Given the description of an element on the screen output the (x, y) to click on. 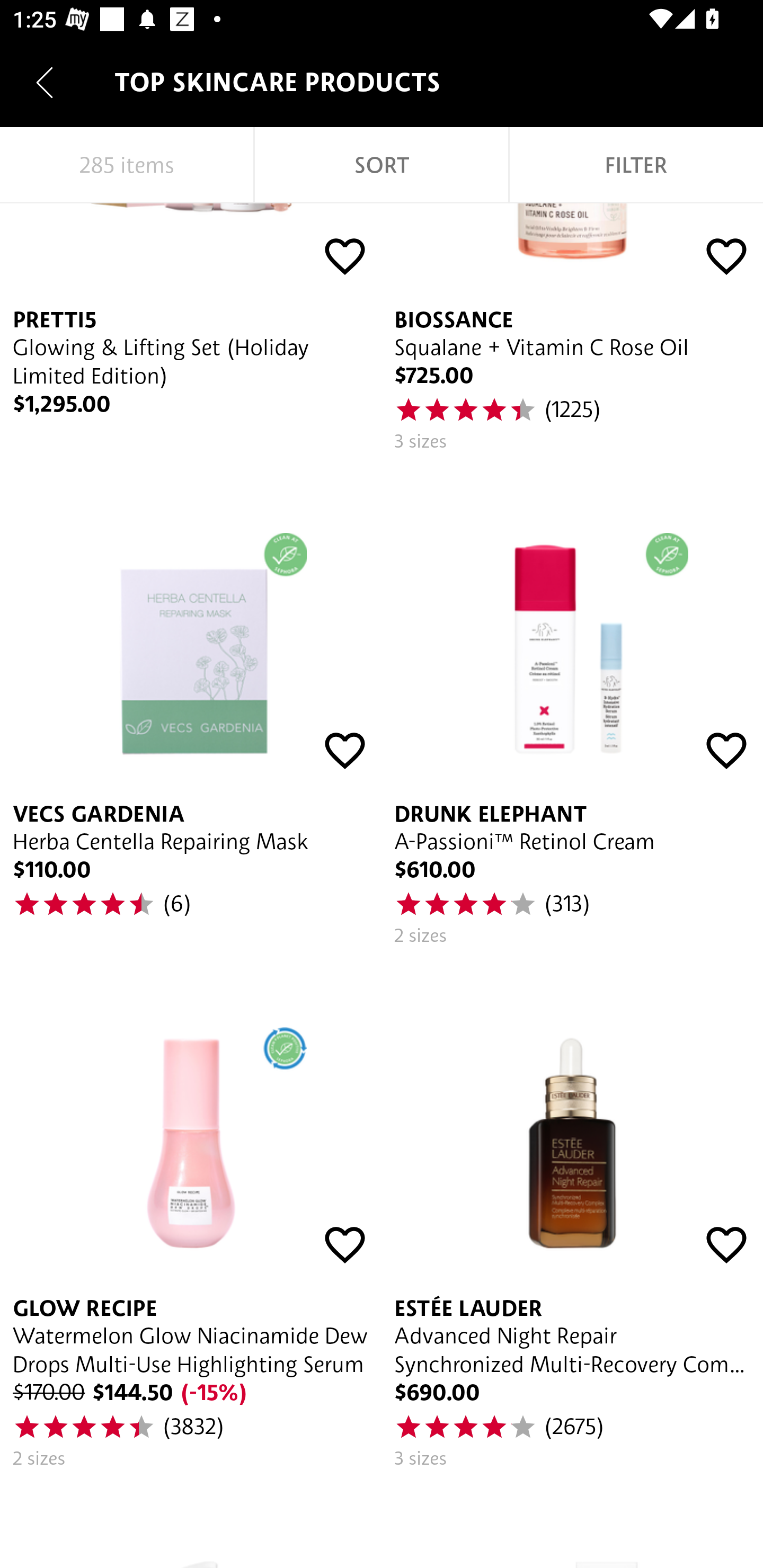
Navigate up (44, 82)
SORT (381, 165)
FILTER (636, 165)
